Given the description of an element on the screen output the (x, y) to click on. 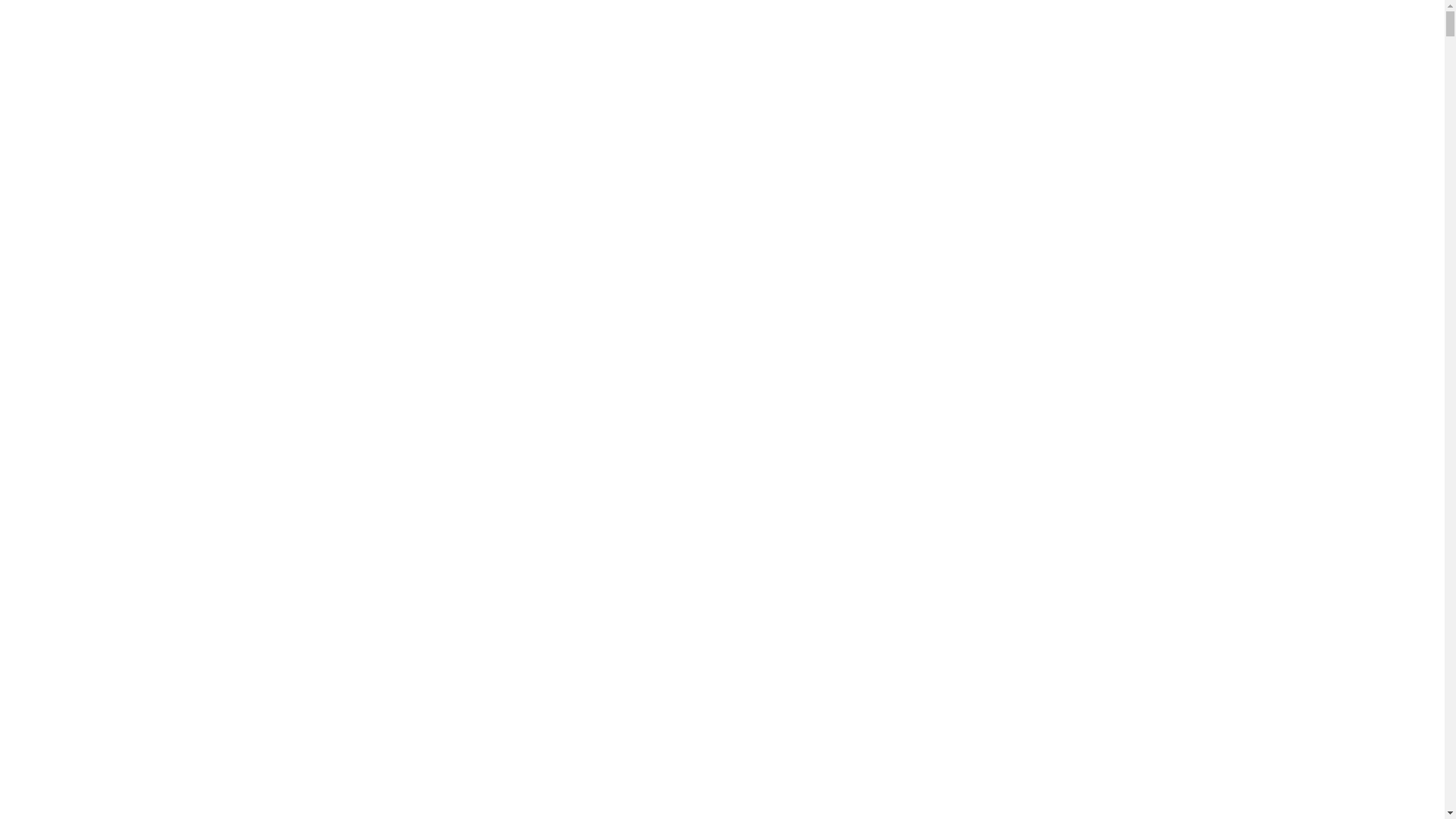
La Kikinette Element type: text (35, 395)
La Tombola Element type: text (37, 443)
Le Kiki Element type: text (21, 379)
Contact Element type: text (28, 490)
TOP Element type: text (1417, 724)
Jean-Abdon Hardenne Element type: text (66, 140)
Accueil Element type: text (25, 29)
Les princes Element type: text (35, 61)
Vincent Charpentier Element type: text (59, 299)
En savoir plus Element type: text (138, 728)
Jean Vaessen Element type: text (42, 108)
Patrick Keutgen Element type: text (47, 188)
Vincent Winkin Element type: text (45, 283)
Bernard Dejardin Element type: text (49, 92)
Renaud Cloes Element type: text (42, 252)
Patrick Petitjean Element type: text (48, 204)
Les pins Element type: text (26, 459)
Historique Element type: text (32, 45)
Jean Fraikin Element type: text (36, 124)
Serge Lejeune Element type: text (43, 268)
Julien Chanteux Element type: text (48, 172)
Calendrier Element type: text (33, 331)
Nos produits Element type: text (38, 347)
Le CD collector Element type: text (46, 475)
Les XIV Element type: text (23, 76)
J'ai compris Element type: text (157, 767)
Vincent Franceschi Element type: text (56, 315)
